Given the description of an element on the screen output the (x, y) to click on. 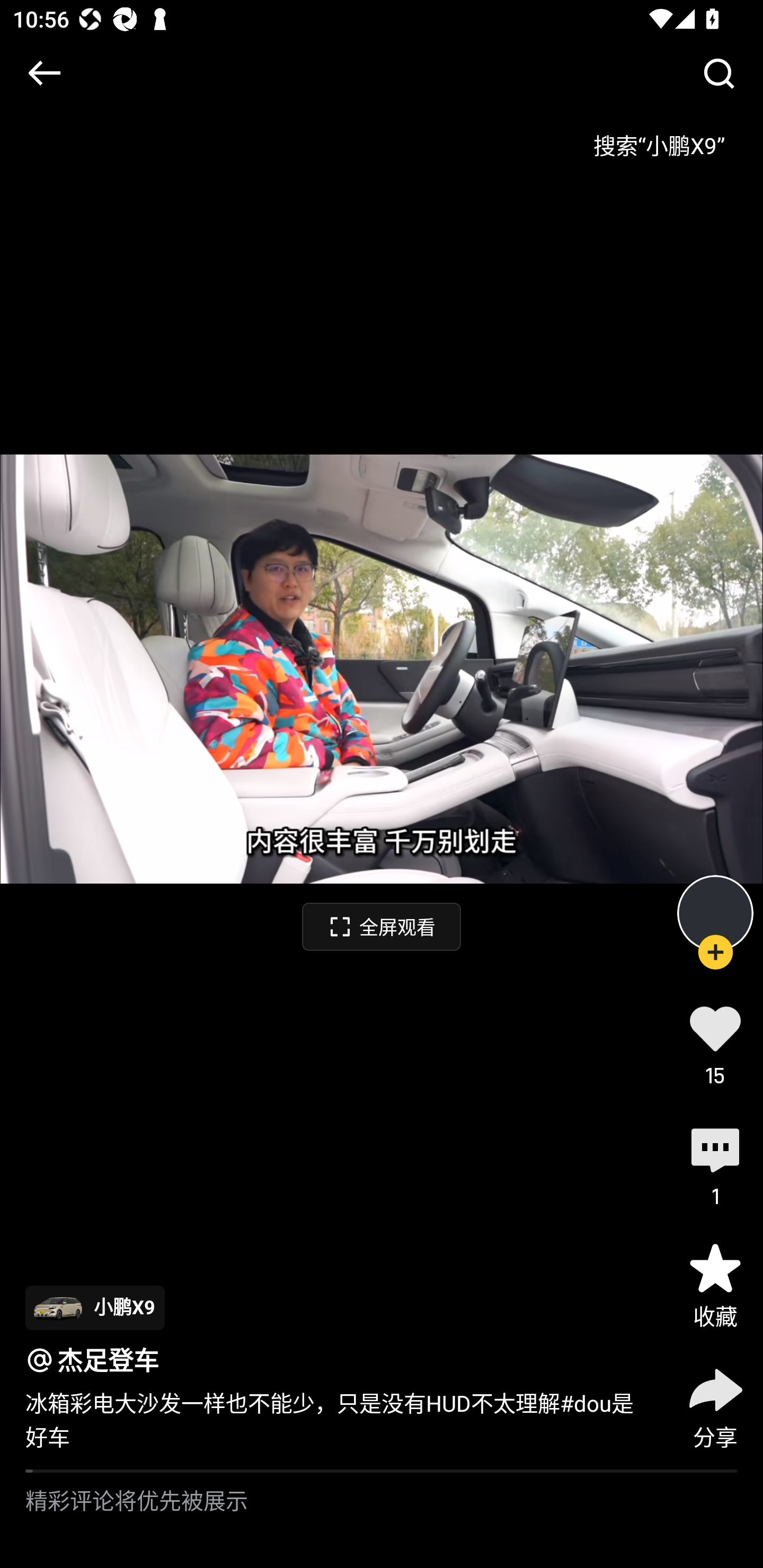
 (44, 72)
 (718, 72)
搜索“小鹏X9” (658, 139)
 全屏观看 (381, 926)
1 (715, 1164)
收藏 (715, 1284)
小鹏X9 (94, 1307)
杰足登车 (107, 1360)
分享 (715, 1405)
冰箱彩电大沙发一样也不能少，只是没有HUD不太理解#dou是好车 (336, 1419)
精彩评论将优先被展示 (381, 1520)
